Given the description of an element on the screen output the (x, y) to click on. 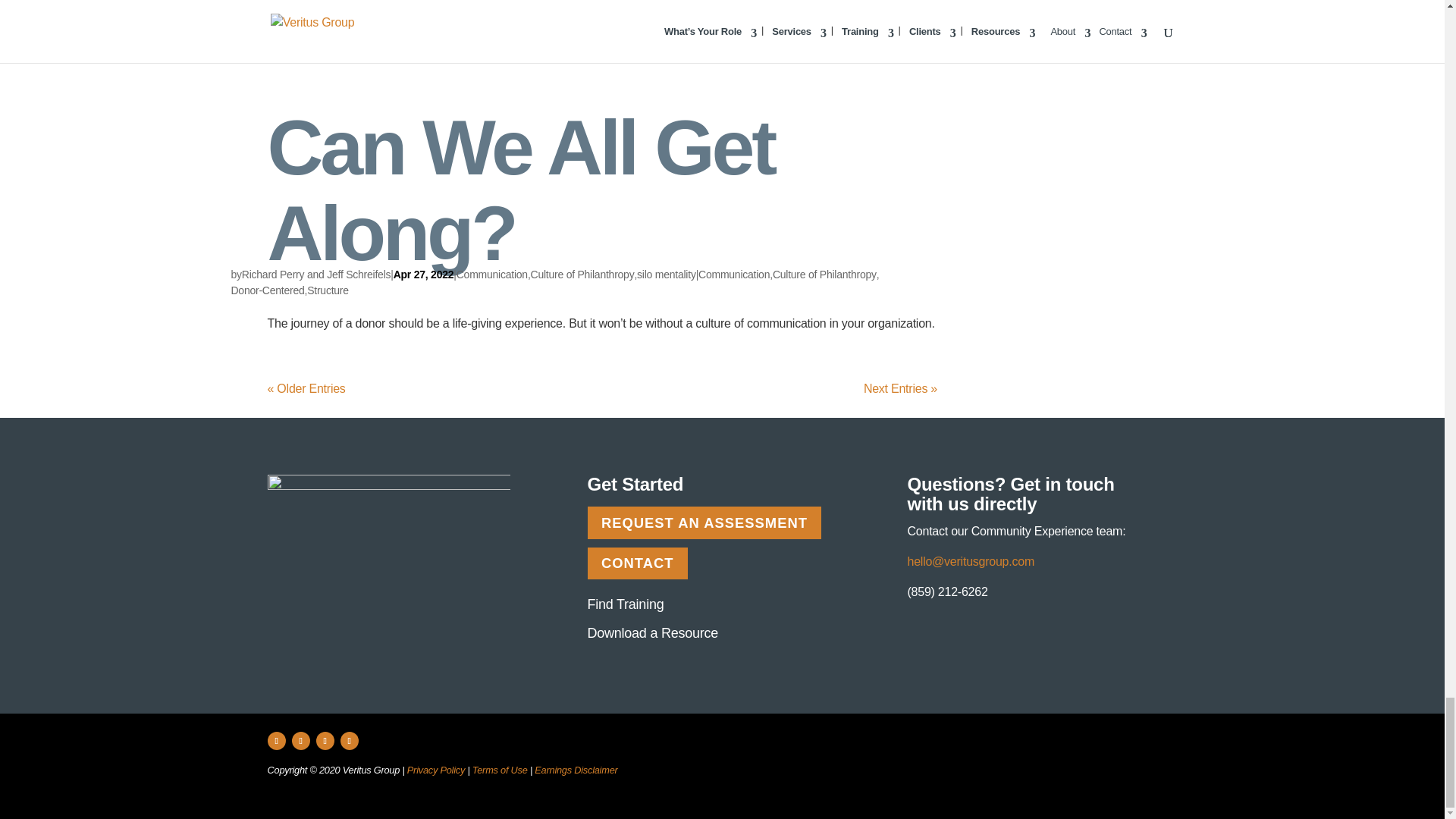
Follow on X (299, 741)
Posts by Richard Perry and Jeff Schreifels (315, 274)
Follow on LinkedIn (324, 741)
Follow on Facebook (275, 741)
veritus-group-footer-logo (387, 511)
Follow on Youtube (348, 741)
